Given the description of an element on the screen output the (x, y) to click on. 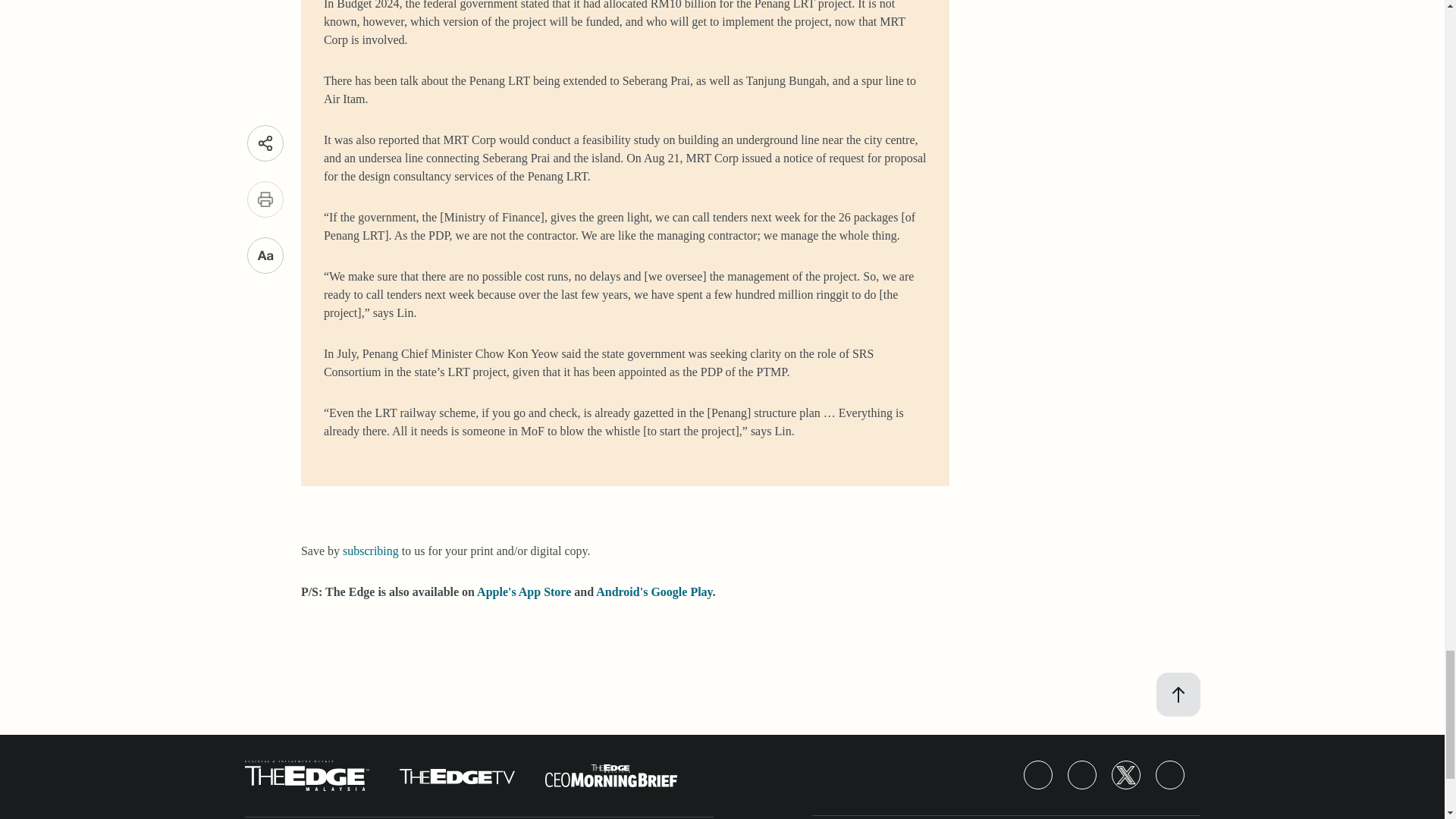
Apple's App Store (523, 591)
Android's Google Play (654, 591)
subscribing (370, 550)
